Given the description of an element on the screen output the (x, y) to click on. 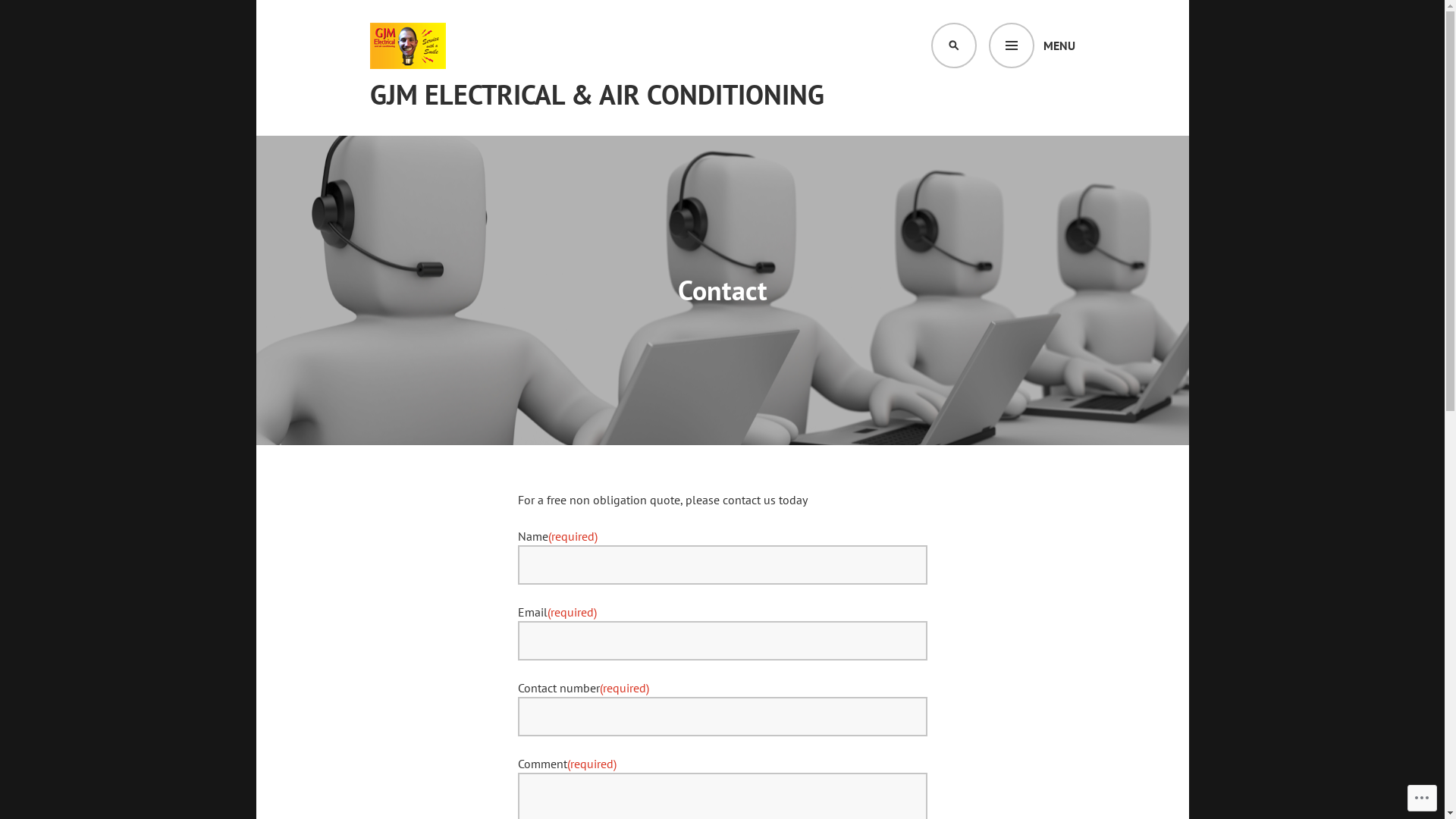
GJM ELECTRICAL & AIR CONDITIONING Element type: text (597, 94)
MENU Element type: text (1031, 45)
Please enter a valid URL - https://www.example.com Element type: hover (721, 716)
